Given the description of an element on the screen output the (x, y) to click on. 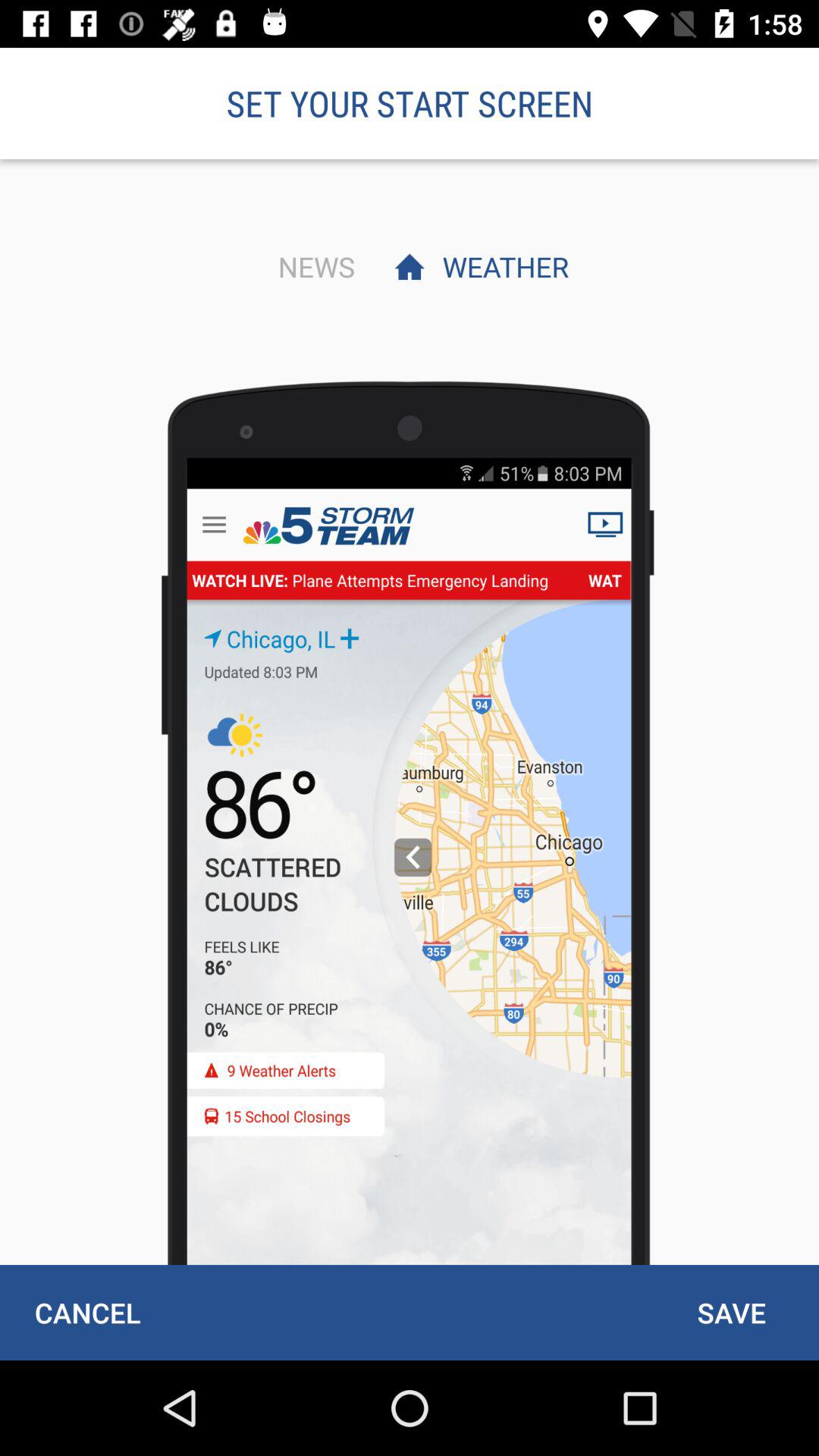
select the item below set your start icon (312, 266)
